Given the description of an element on the screen output the (x, y) to click on. 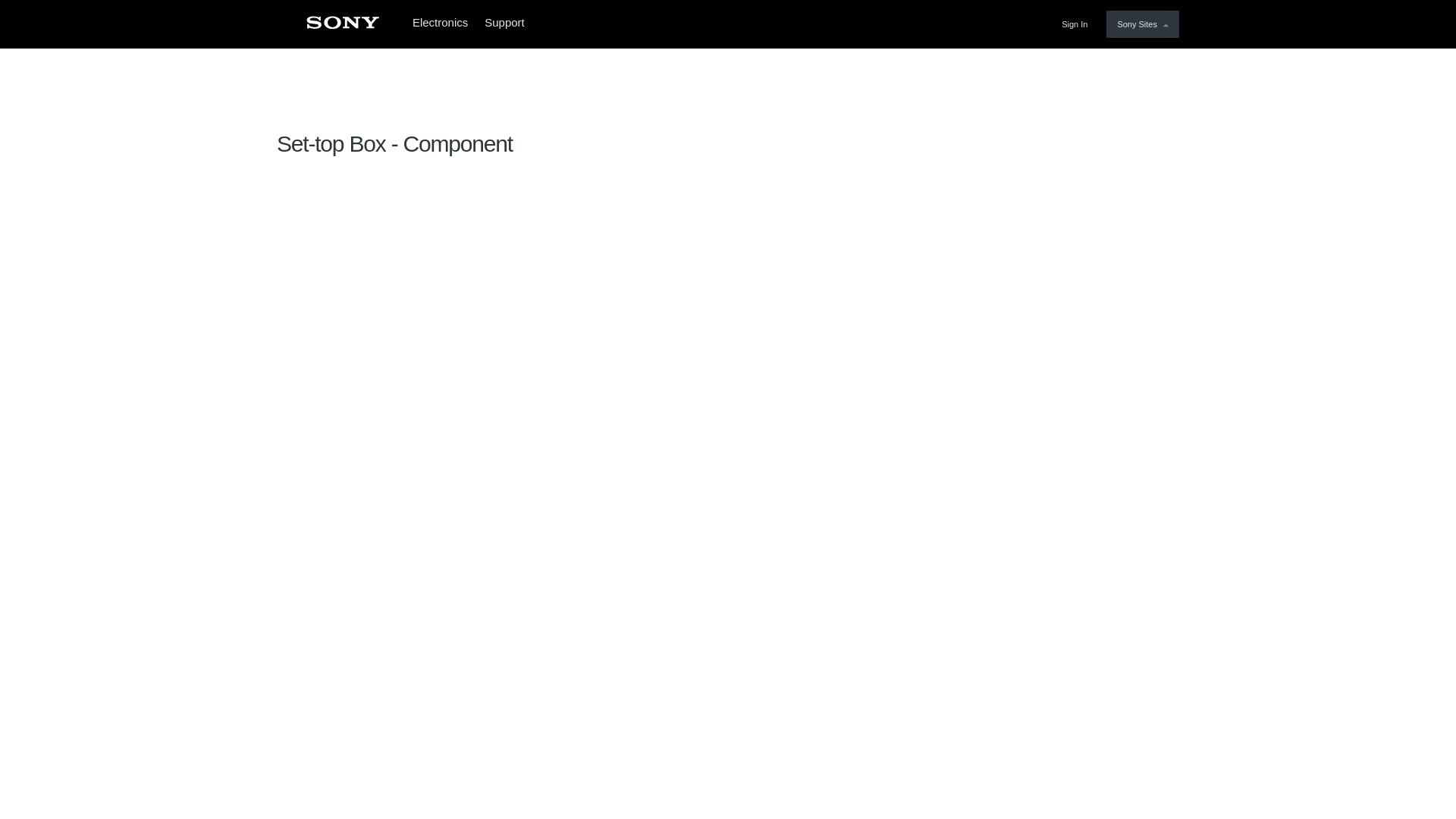
Support (509, 24)
Sony Sites (1142, 23)
SONY (342, 26)
Sign In (1078, 23)
SONY (342, 26)
Electronics (440, 24)
